Given the description of an element on the screen output the (x, y) to click on. 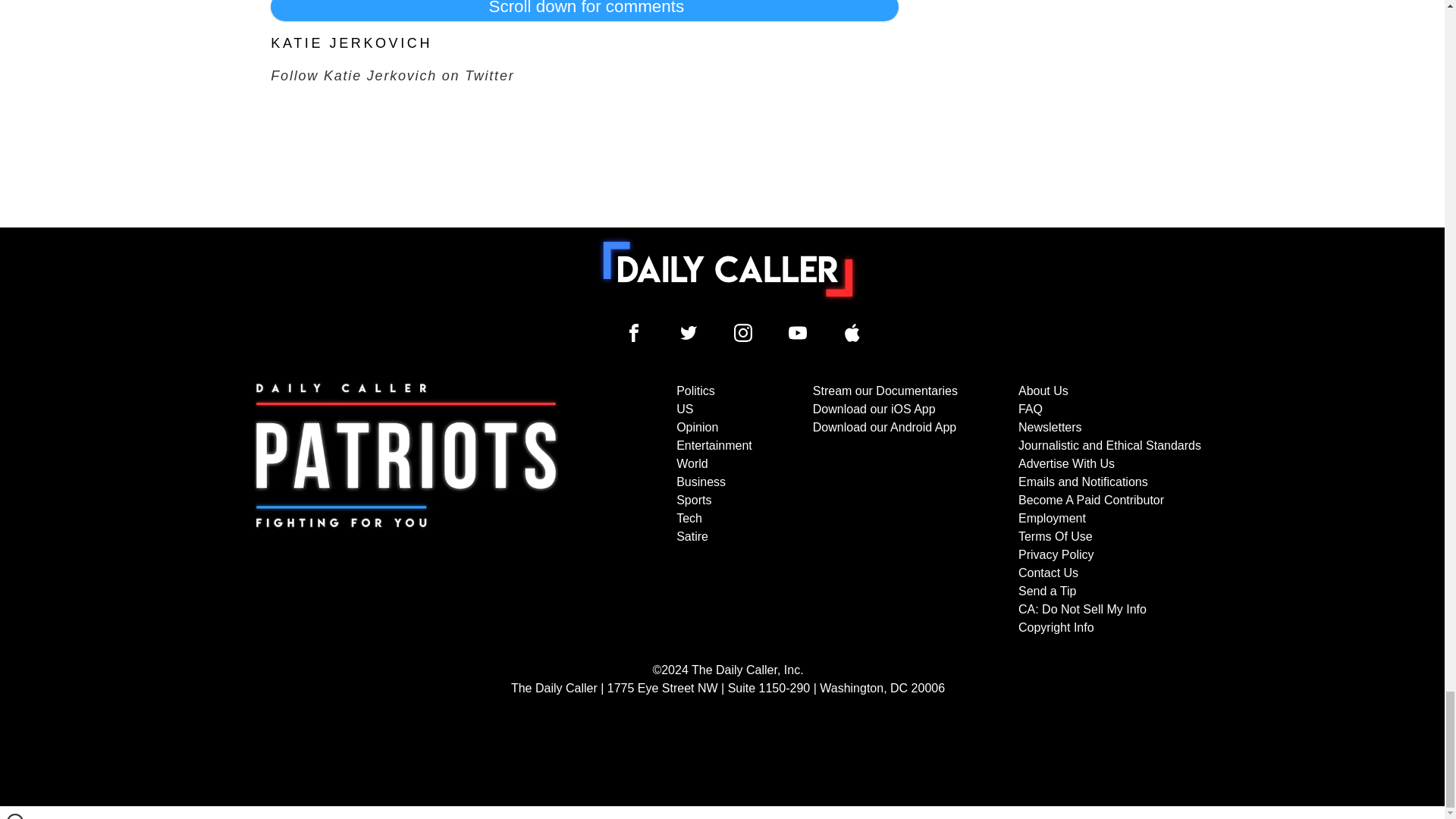
To home page (727, 268)
Subscribe to The Daily Caller (405, 509)
Daily Caller Instagram (742, 332)
Daily Caller Facebook (633, 332)
Daily Caller YouTube (852, 332)
Scroll down for comments (584, 10)
Daily Caller Twitter (688, 332)
Daily Caller YouTube (797, 332)
